Given the description of an element on the screen output the (x, y) to click on. 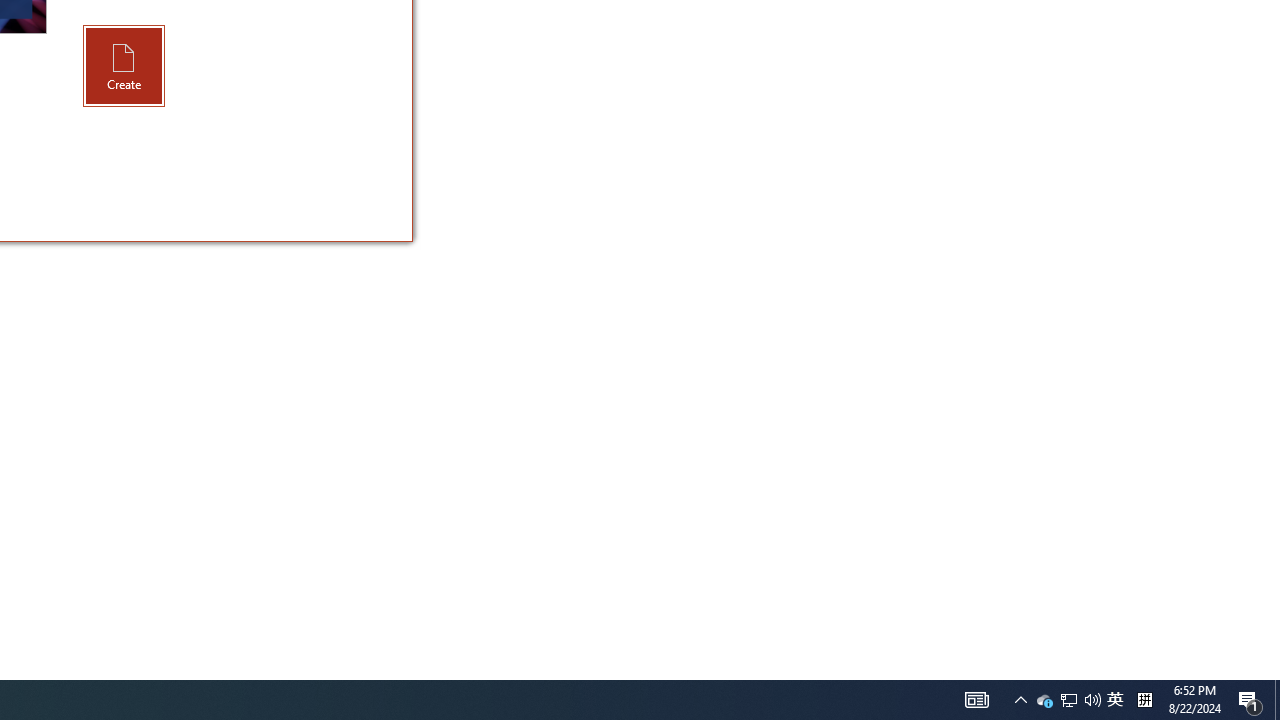
Action Center, 1 new notification (1250, 699)
Create (1044, 699)
